Given the description of an element on the screen output the (x, y) to click on. 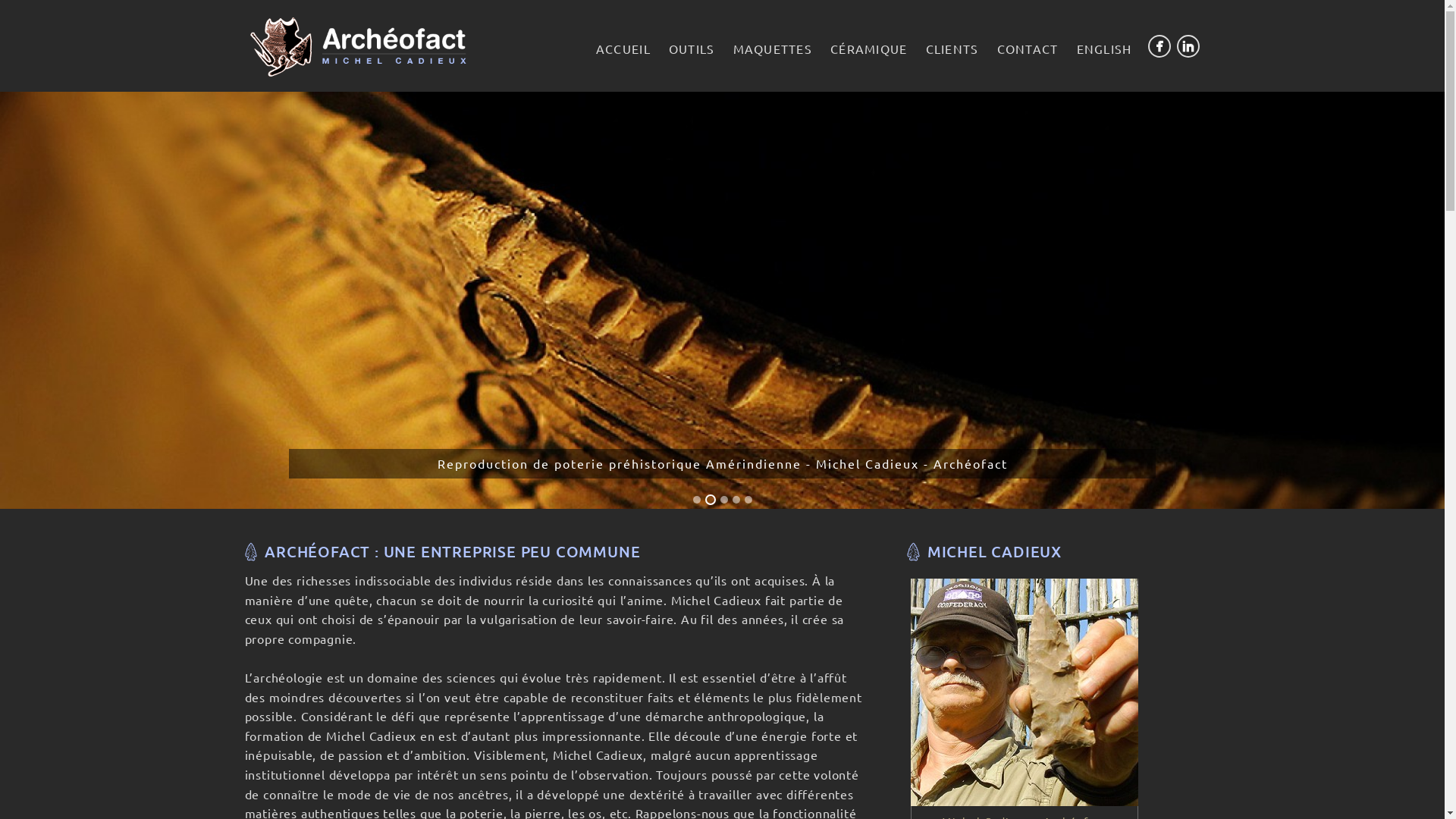
CONTACT Element type: text (1027, 48)
ENGLISH Element type: text (1104, 48)
MAQUETTES Element type: text (773, 48)
OUTILS Element type: text (691, 48)
CLIENTS Element type: text (952, 48)
ACCUEIL Element type: text (622, 48)
